Given the description of an element on the screen output the (x, y) to click on. 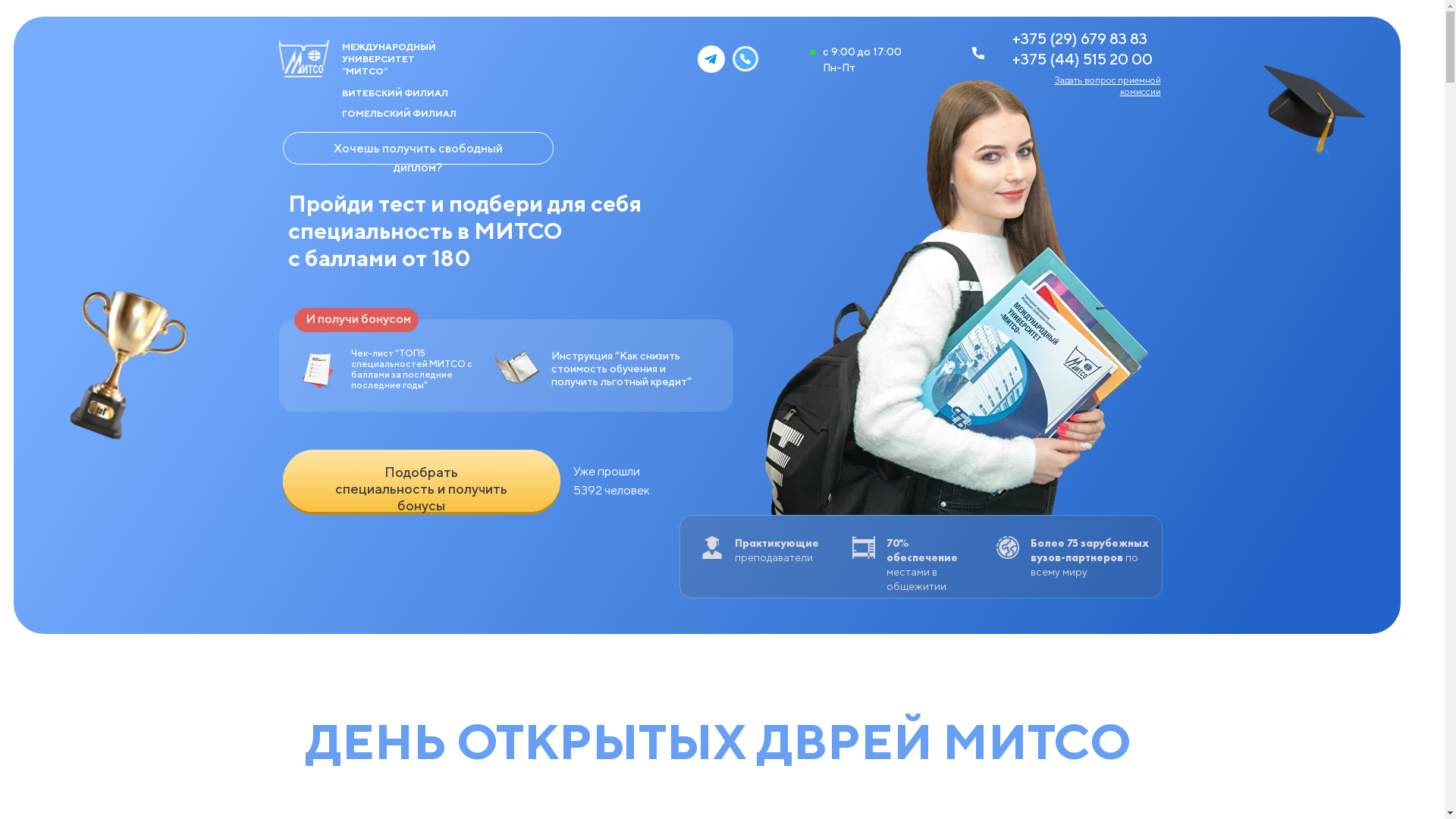
+375 (44) 515 20 00 Element type: text (1081, 58)
LET'S GO! Element type: text (420, 480)
+375 (29) 679 83 83 Element type: text (1078, 38)
